Given the description of an element on the screen output the (x, y) to click on. 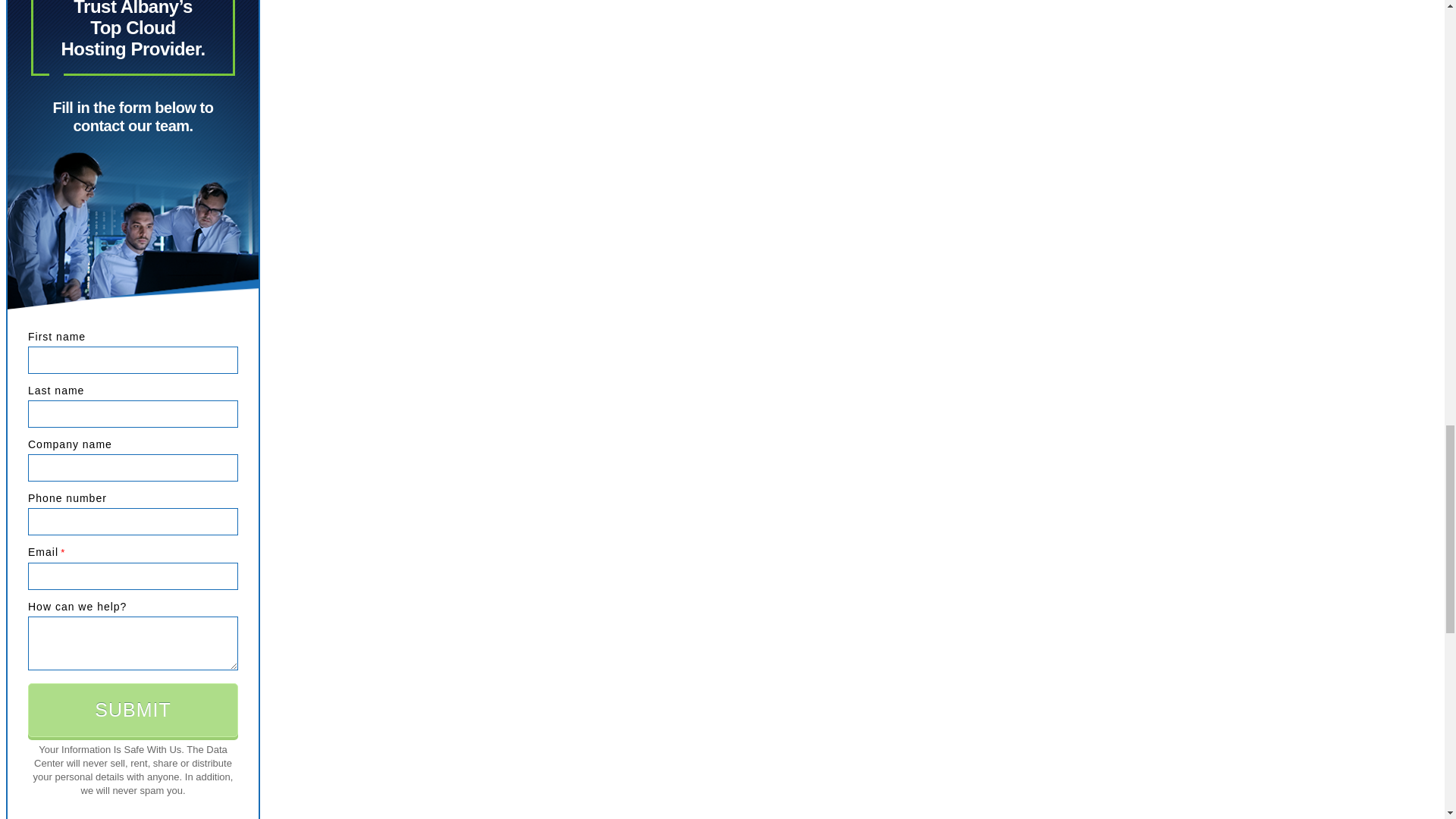
Submit (132, 710)
Submit (132, 710)
